Given the description of an element on the screen output the (x, y) to click on. 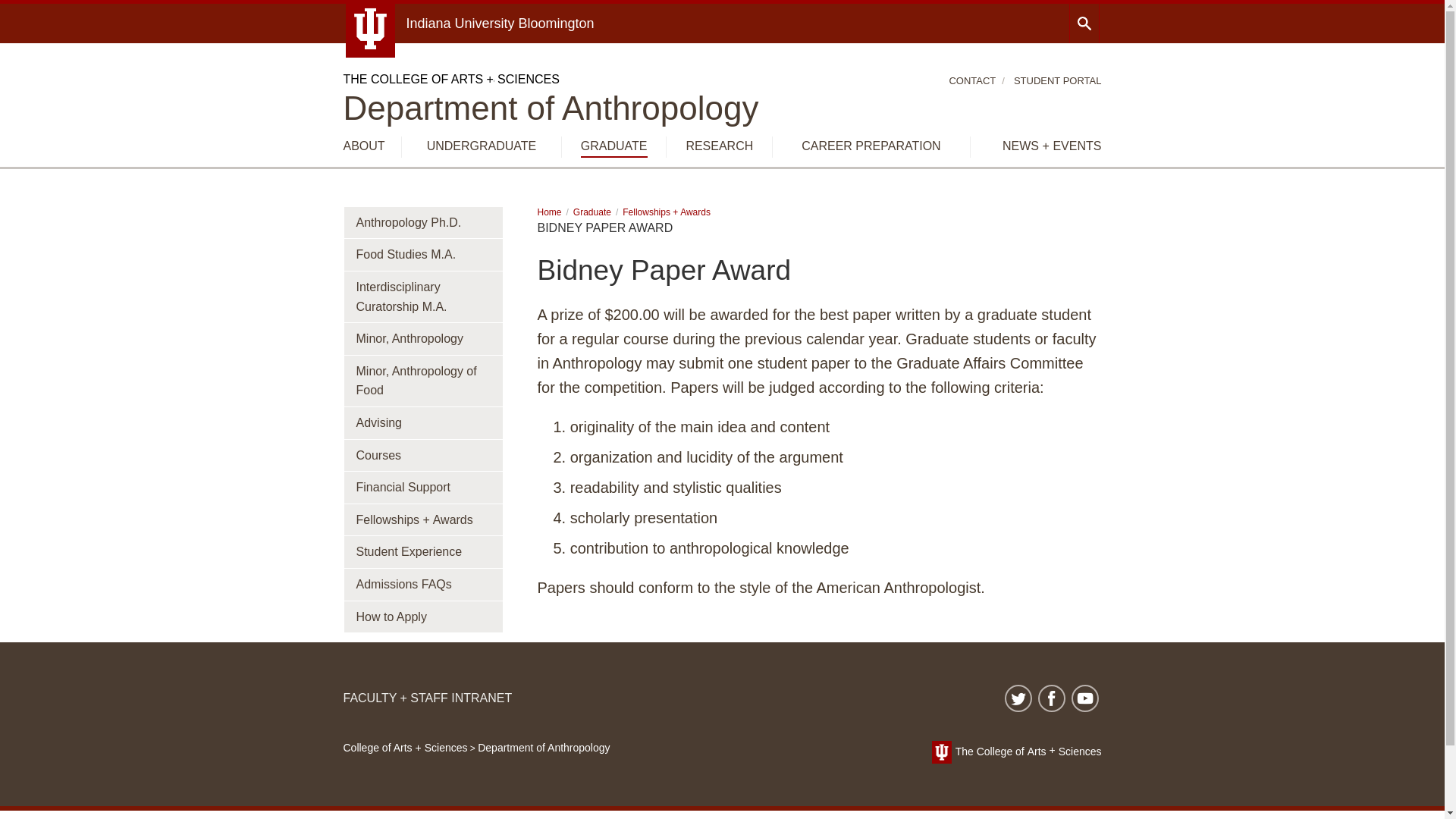
UNDERGRADUATE (481, 146)
Department of Anthropology (550, 107)
Indiana University Bloomington (500, 23)
GRADUATE (613, 147)
Indiana University Bloomington (500, 23)
ABOUT (363, 146)
